Given the description of an element on the screen output the (x, y) to click on. 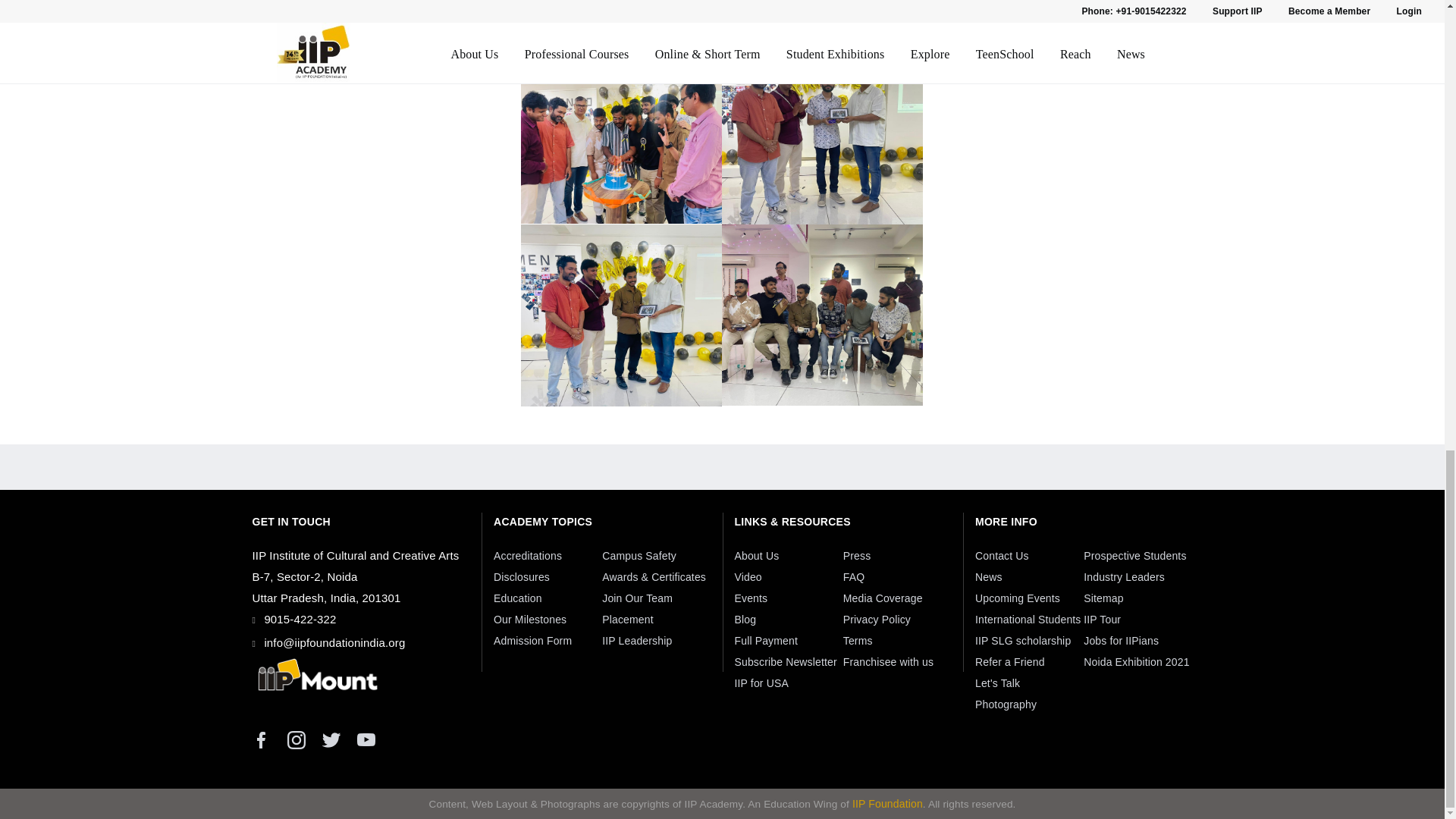
9015-422-322 (299, 618)
